Given the description of an element on the screen output the (x, y) to click on. 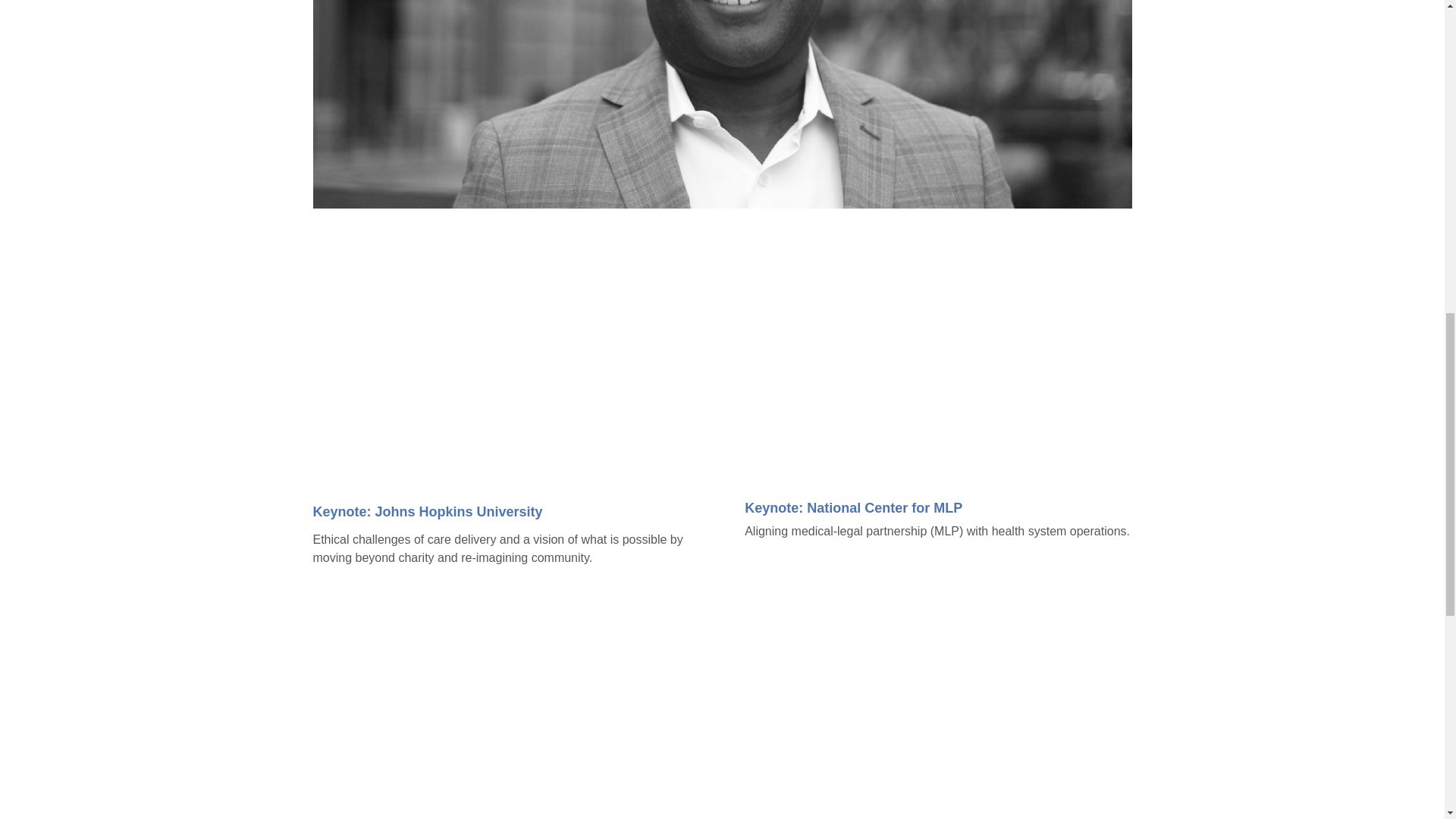
GPS 2012 Joseph Betancourt (937, 708)
